Given the description of an element on the screen output the (x, y) to click on. 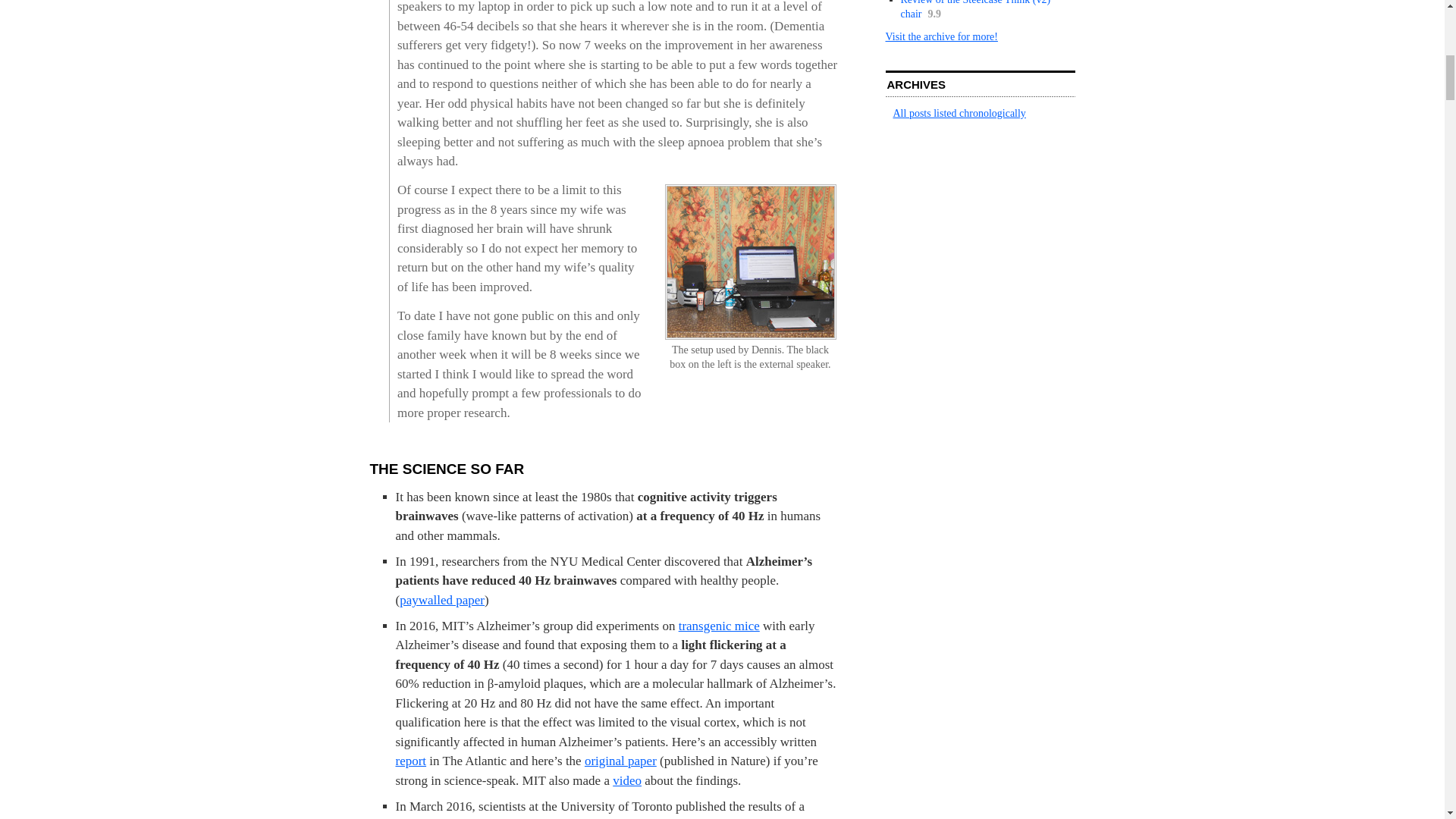
paywalled paper (441, 599)
video (627, 780)
transgenic mice (719, 626)
report (411, 760)
original paper (620, 760)
